Given the description of an element on the screen output the (x, y) to click on. 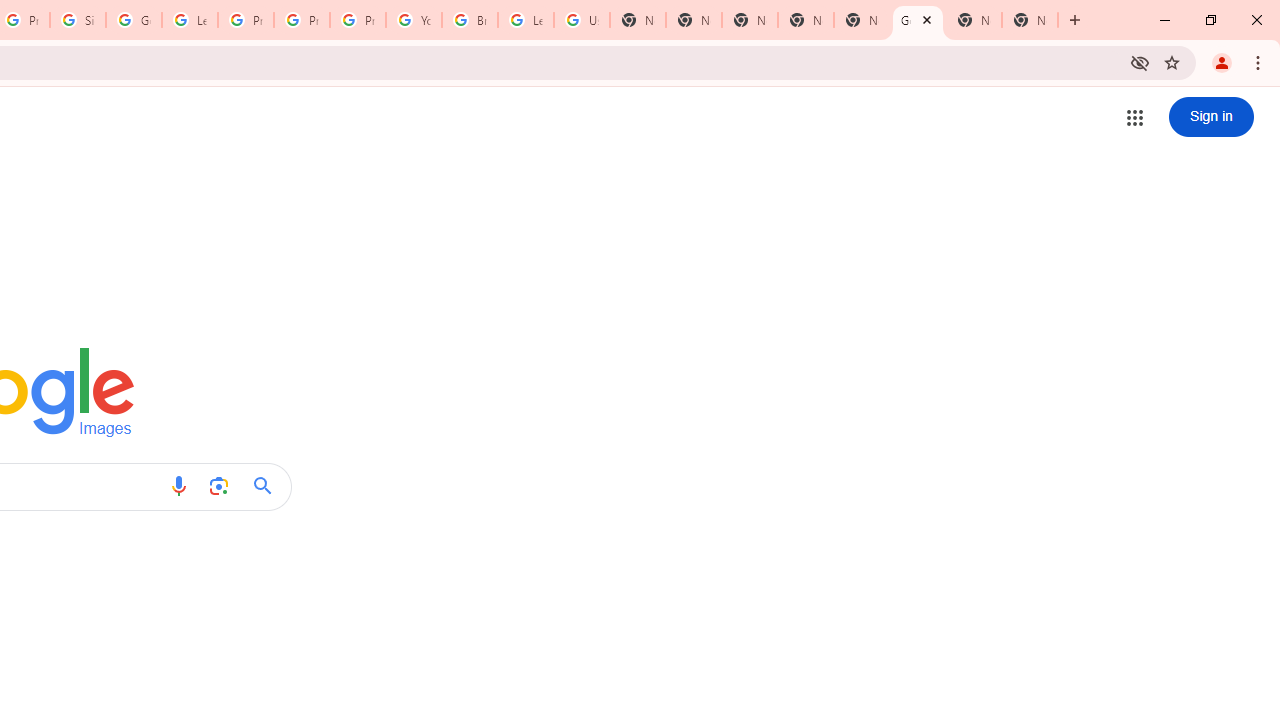
Privacy Help Center - Policies Help (245, 20)
YouTube (413, 20)
Google Images (917, 20)
